Given the description of an element on the screen output the (x, y) to click on. 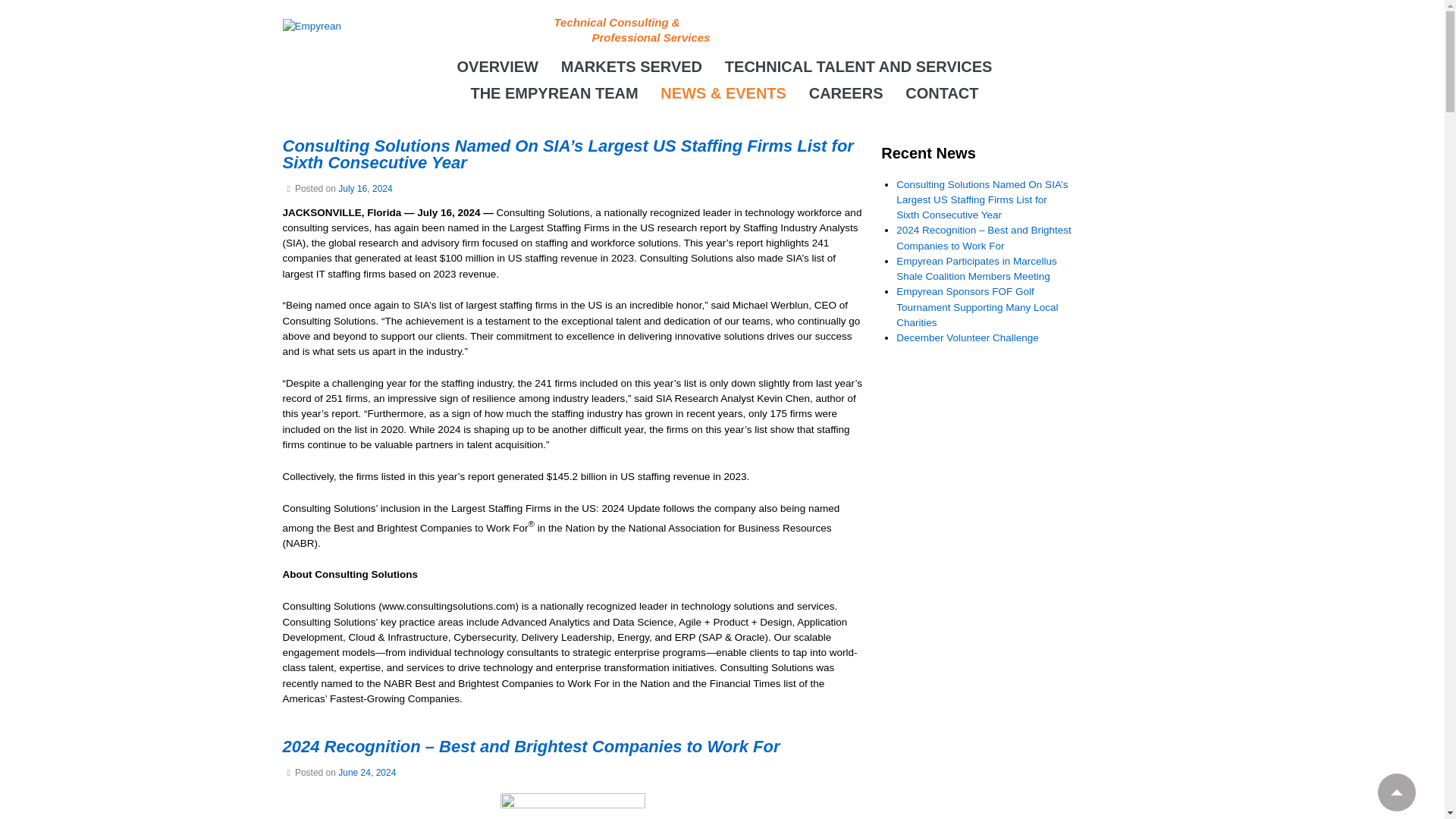
CAREERS (843, 93)
Scroll to Top (1396, 792)
OVERVIEW (495, 66)
THE EMPYREAN TEAM (551, 93)
TECHNICAL TALENT AND SERVICES (856, 66)
June 24, 2024 (366, 772)
July 16, 2024 (364, 188)
CONTACT (939, 93)
MARKETS SERVED (629, 66)
